Given the description of an element on the screen output the (x, y) to click on. 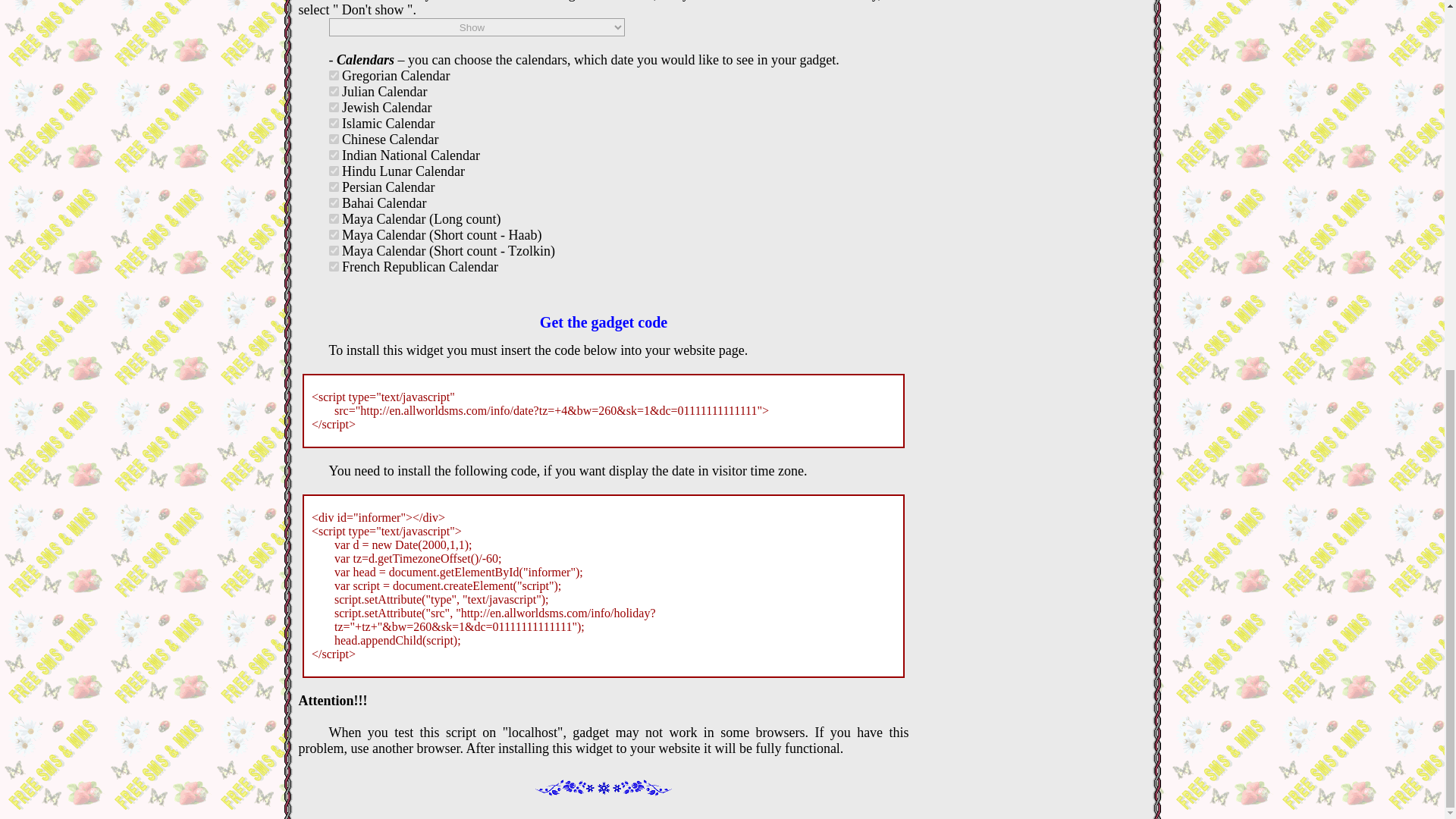
on (334, 75)
on (334, 122)
on (334, 266)
on (334, 139)
on (334, 171)
on (334, 203)
on (334, 250)
on (334, 186)
on (334, 218)
on (334, 107)
on (334, 234)
on (334, 91)
on (334, 154)
